Given the description of an element on the screen output the (x, y) to click on. 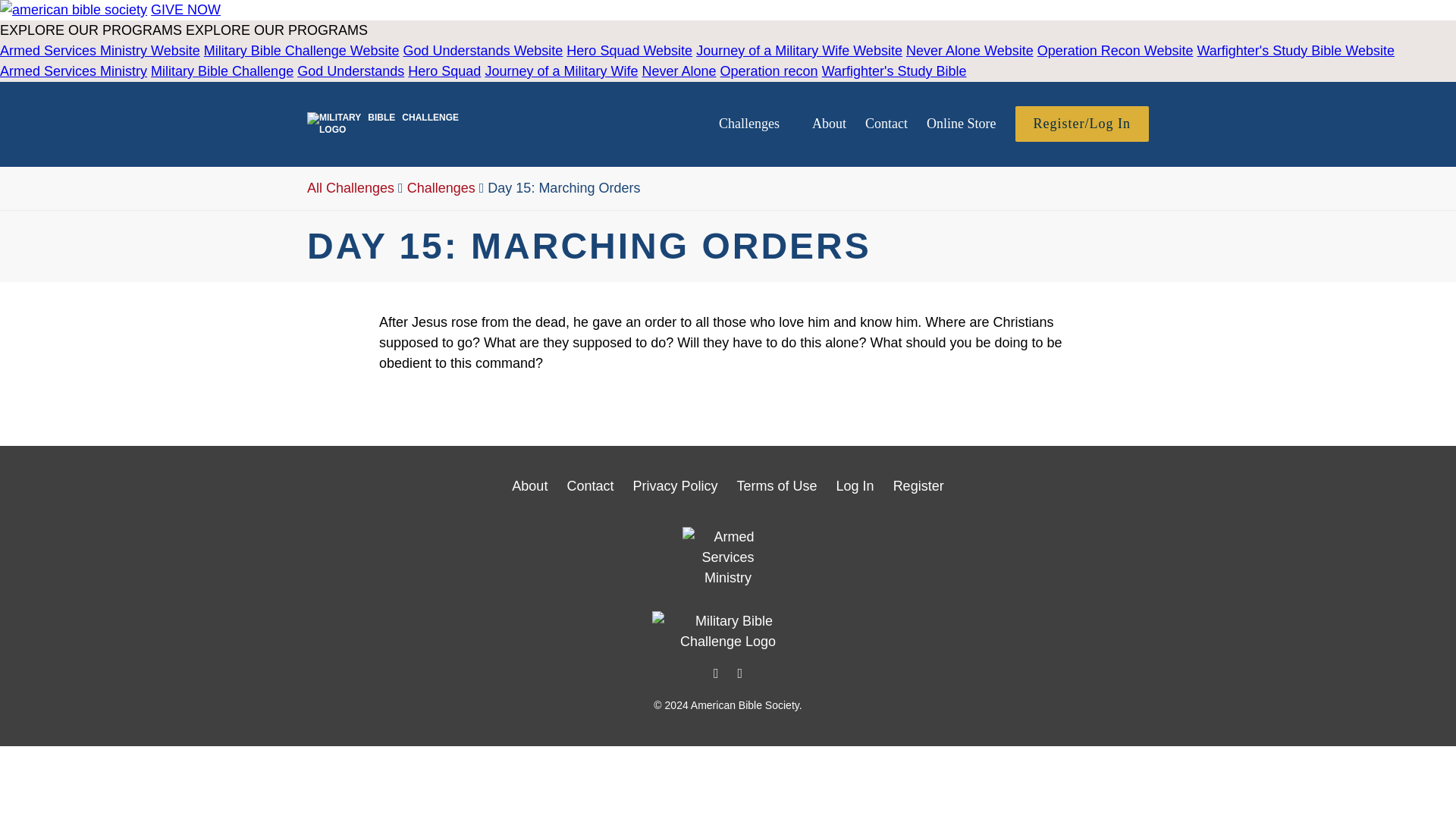
Home (727, 630)
Challenges (441, 187)
Contact (589, 485)
Home (382, 129)
Online Store (960, 123)
Armed Services Ministry (727, 557)
Sign In (855, 485)
Sign Up (918, 485)
Terms of Use (776, 485)
Log In (855, 485)
